Given the description of an element on the screen output the (x, y) to click on. 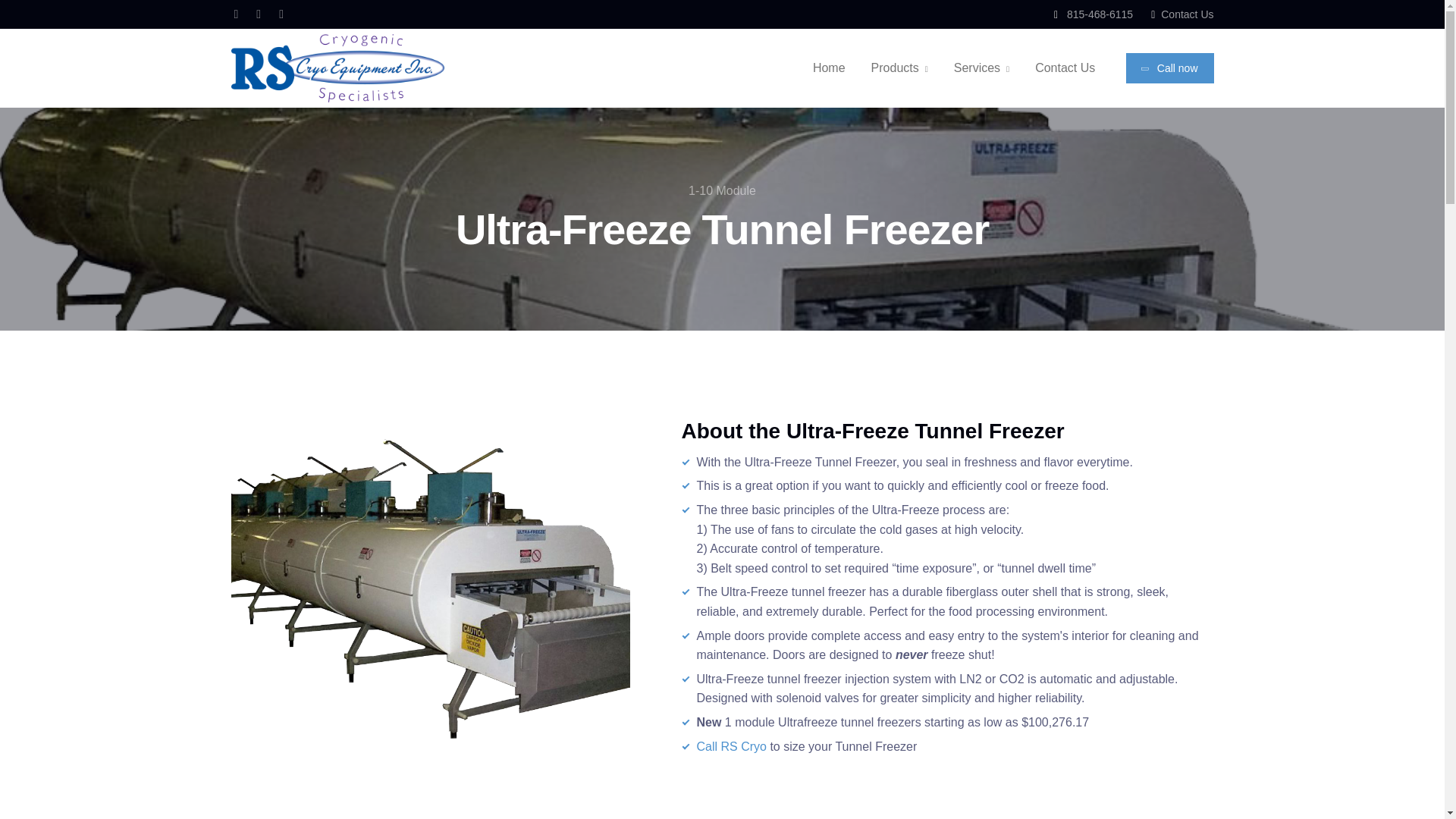
Services (980, 68)
Products (899, 68)
815-468-6115 (1093, 14)
Call now (1168, 68)
Contact Us (1181, 14)
Call RS Cryo (730, 746)
Ultra-Freeze Tunnel Freezer (429, 588)
RS Cryo Equipment Logo (337, 68)
Contact Us (1064, 68)
